Given the description of an element on the screen output the (x, y) to click on. 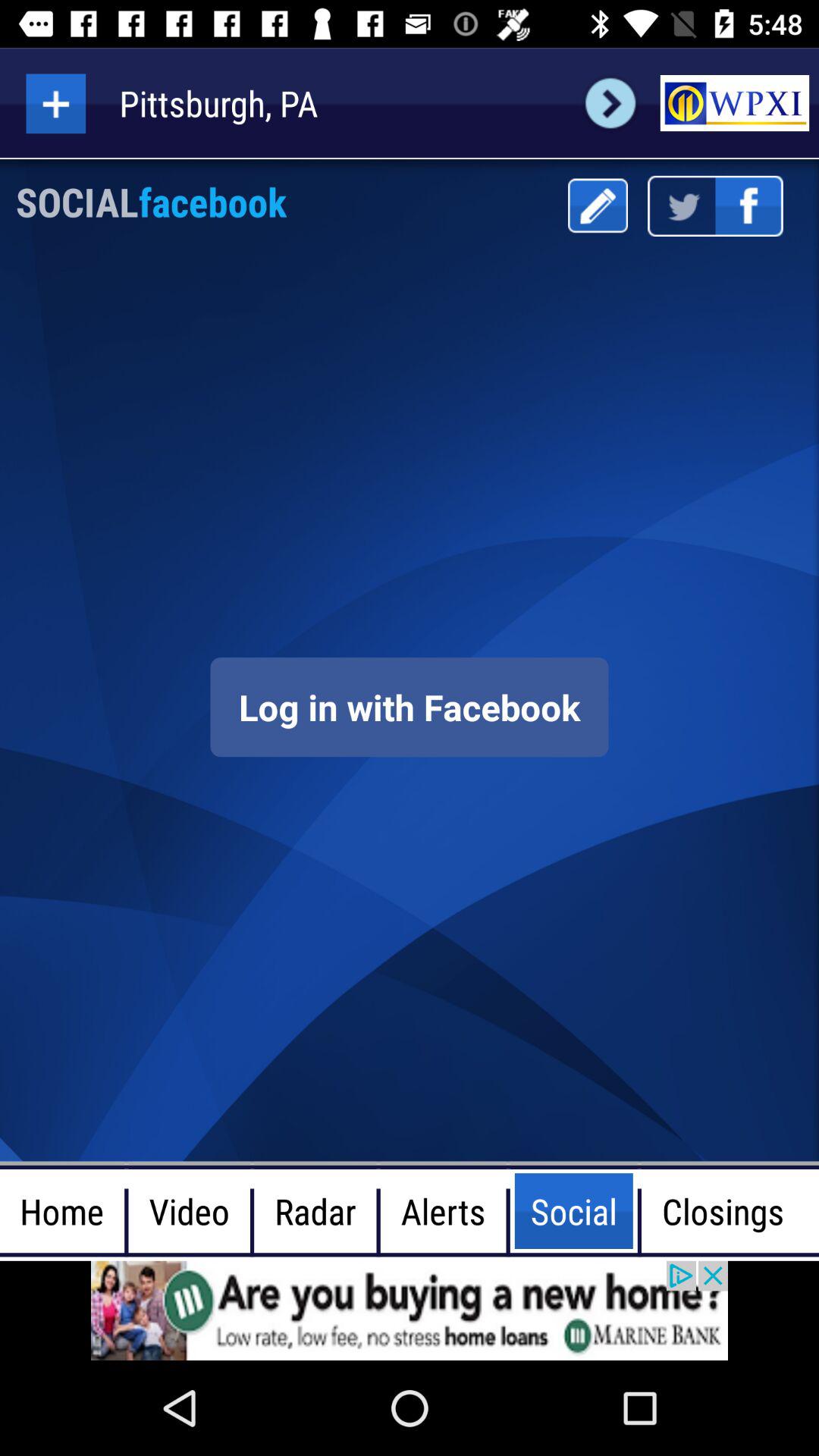
add in the option (55, 103)
